Given the description of an element on the screen output the (x, y) to click on. 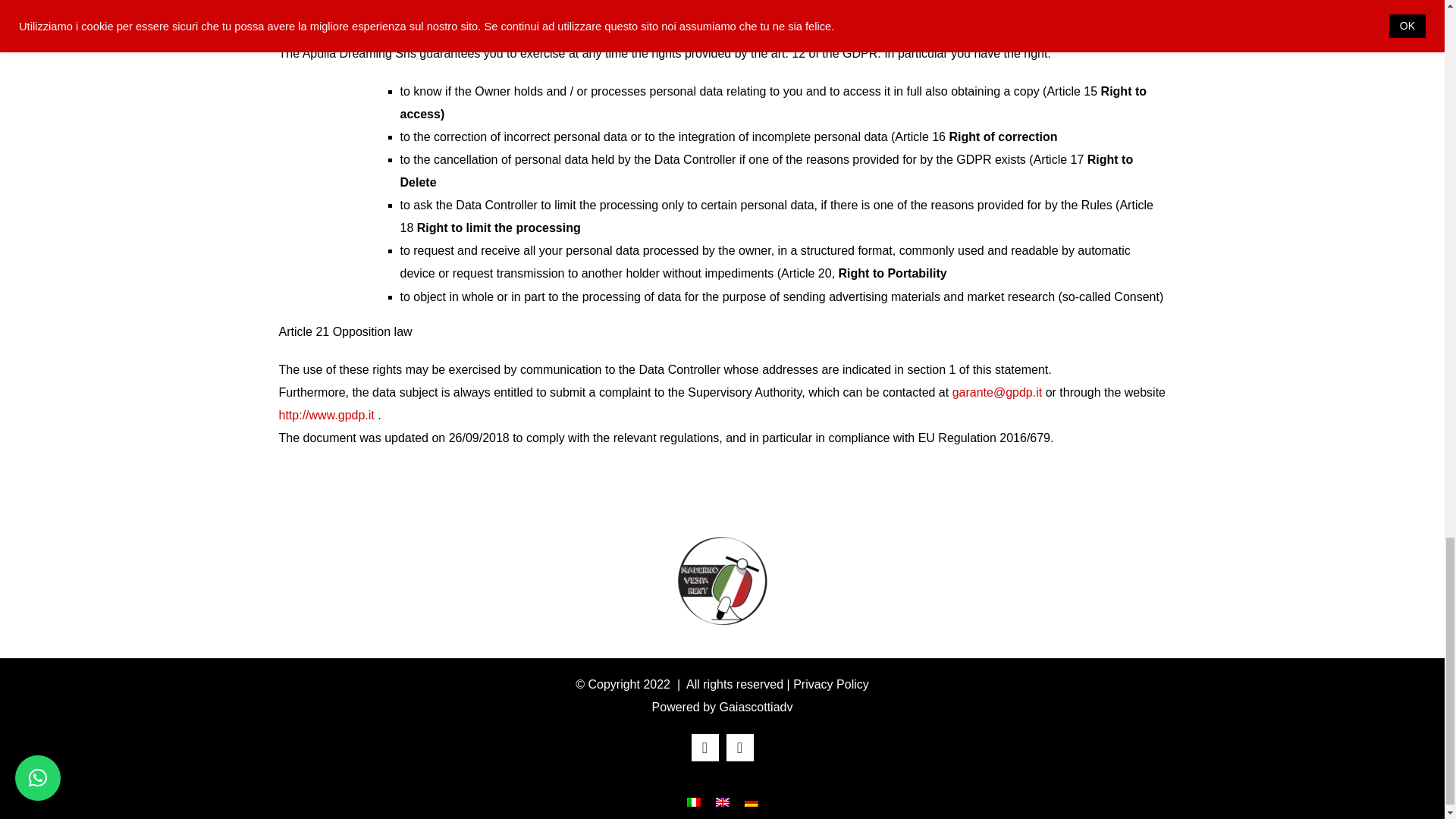
Instagram (740, 747)
Privacy Policy (831, 684)
Gaiascottiadv (755, 707)
Facebook (705, 747)
